Given the description of an element on the screen output the (x, y) to click on. 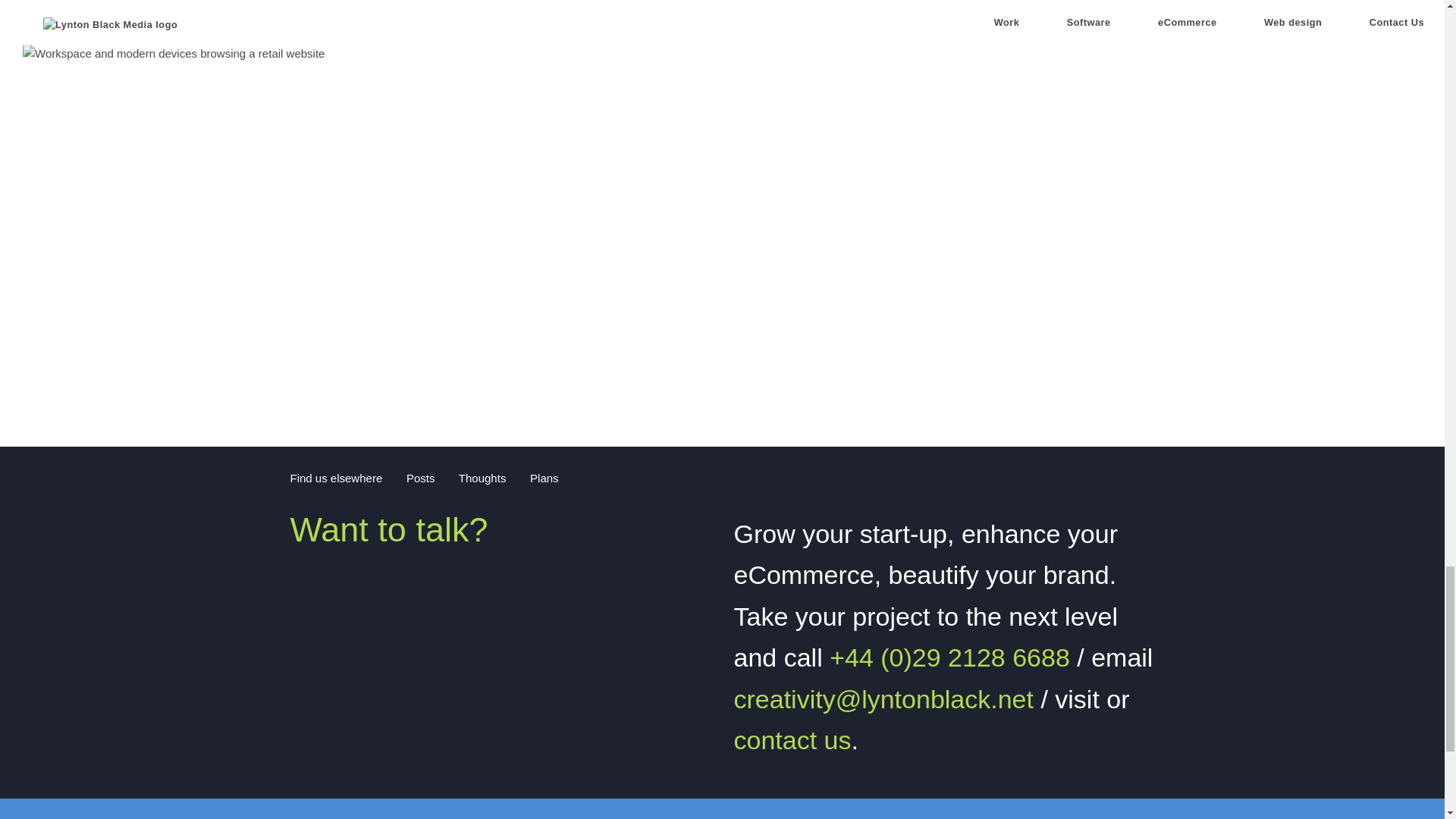
contact us (792, 739)
Posts (413, 477)
Plans (537, 477)
Thoughts (474, 477)
View our plans on tumblr (521, 476)
on Tumblr (537, 477)
on Twitter (474, 477)
Web design work (722, 234)
